Given the description of an element on the screen output the (x, y) to click on. 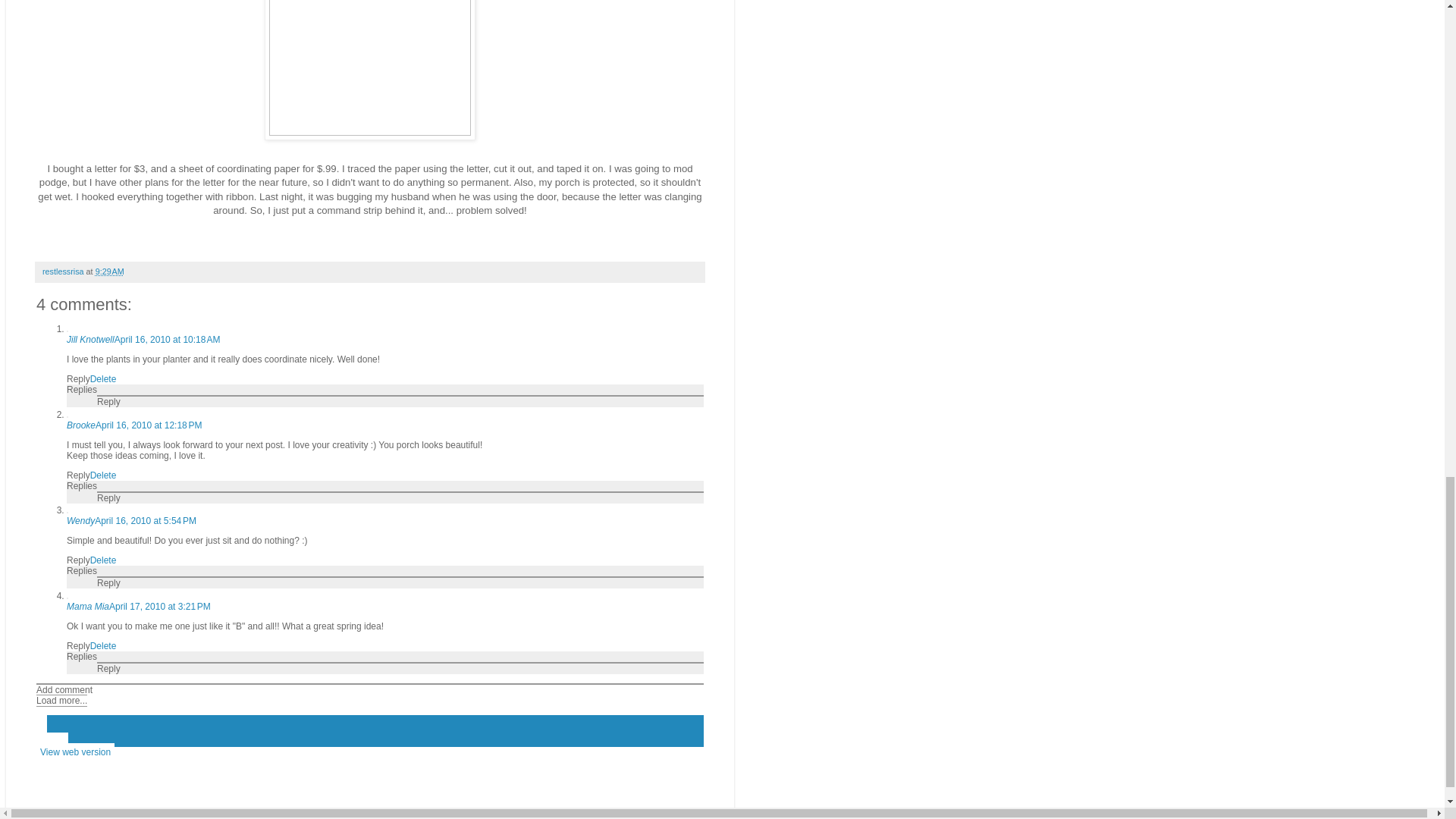
Reply (108, 668)
Reply (108, 583)
Reply (78, 475)
Reply (78, 378)
Delete (103, 645)
Replies (81, 570)
Replies (81, 485)
author profile (63, 271)
Delete (103, 475)
Mama Mia (87, 606)
Load more... (61, 700)
Replies (81, 389)
Delete (103, 560)
